Given the description of an element on the screen output the (x, y) to click on. 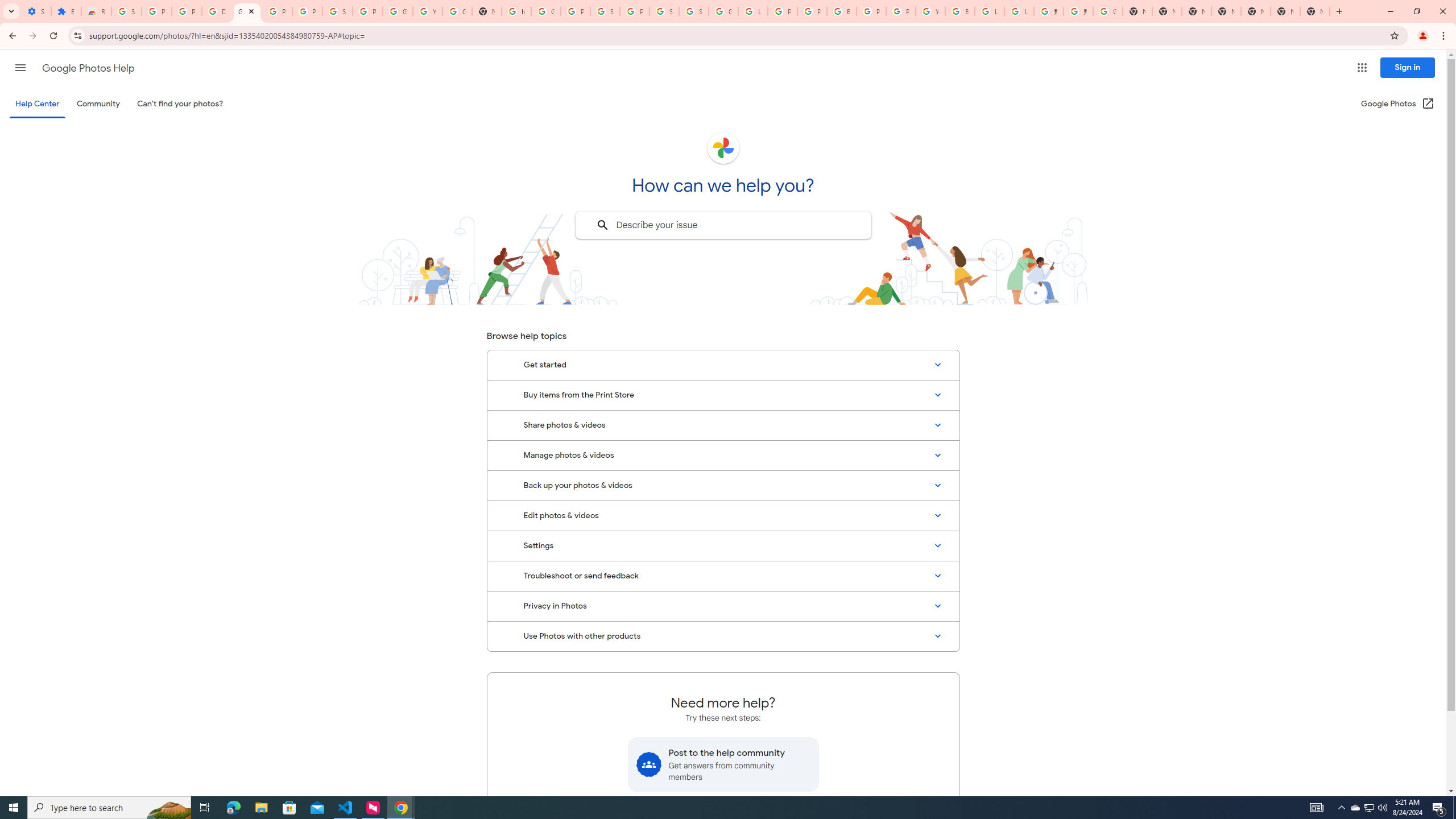
New Tab (1226, 11)
Delete photos & videos - Computer - Google Photos Help (216, 11)
https://scholar.google.com/ (515, 11)
Privacy Help Center - Policies Help (782, 11)
Google Photos (Open in a new window) (1397, 103)
New Tab (1314, 11)
Privacy in Photos (722, 605)
